Given the description of an element on the screen output the (x, y) to click on. 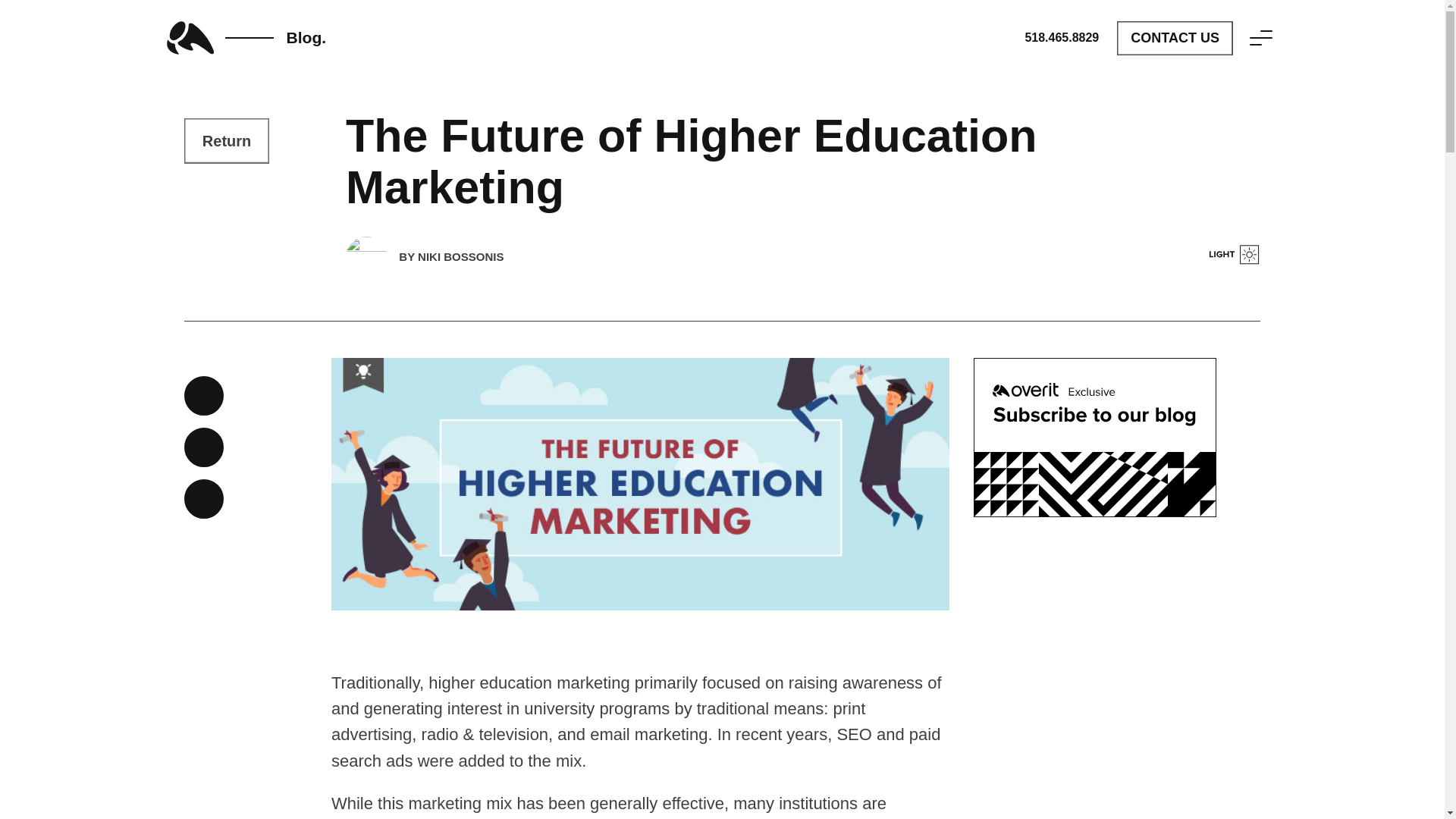
CONTACT US (1174, 38)
518.465.8829 (1062, 37)
Blog. (252, 37)
Overit (252, 37)
Return (226, 139)
Blog home (226, 139)
